Given the description of an element on the screen output the (x, y) to click on. 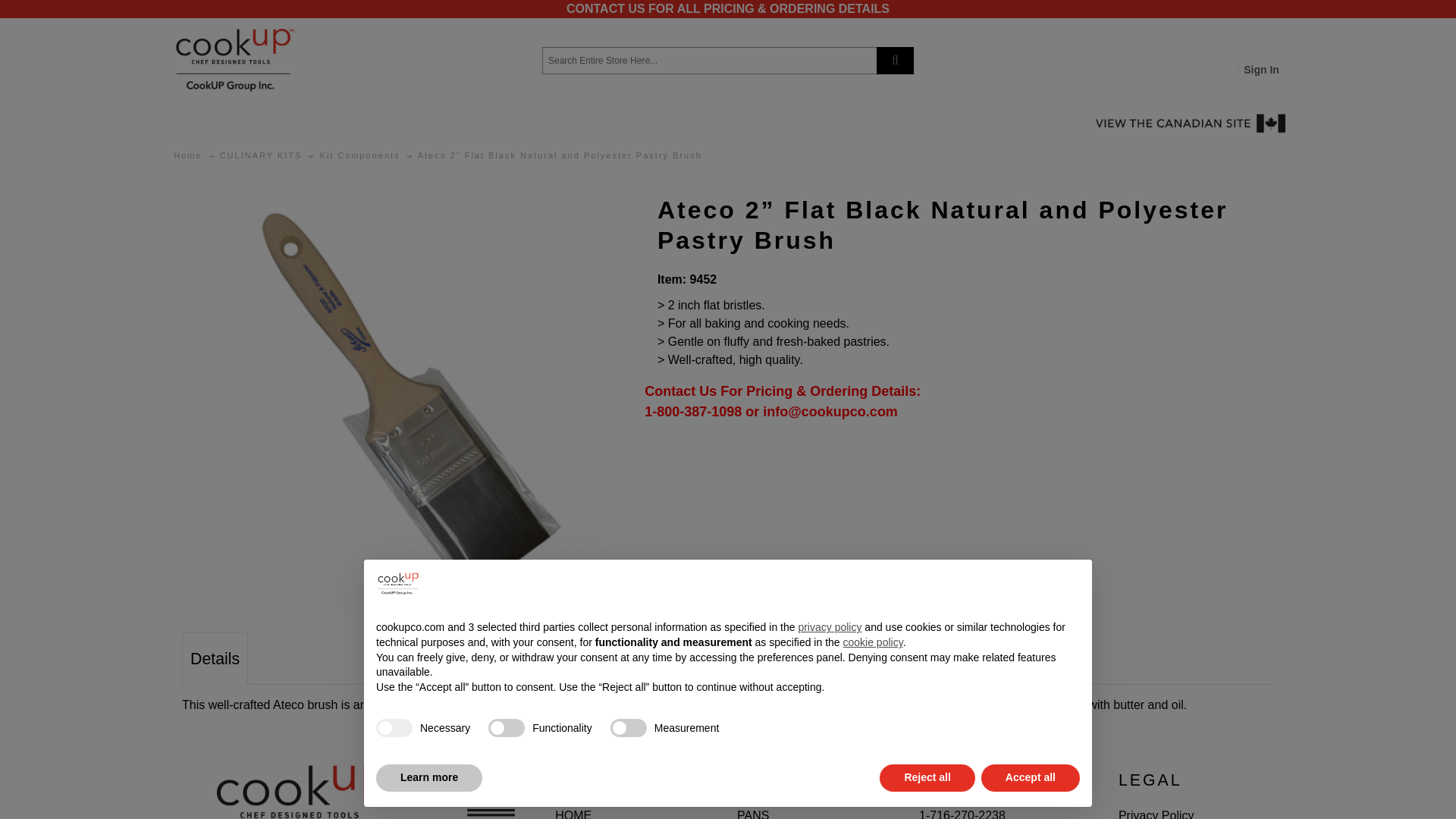
Check the items in your Cart (1267, 50)
false (505, 728)
Privacy Policy  (1155, 814)
true (393, 728)
Search (895, 60)
false (628, 728)
Sign In (1261, 69)
